Given the description of an element on the screen output the (x, y) to click on. 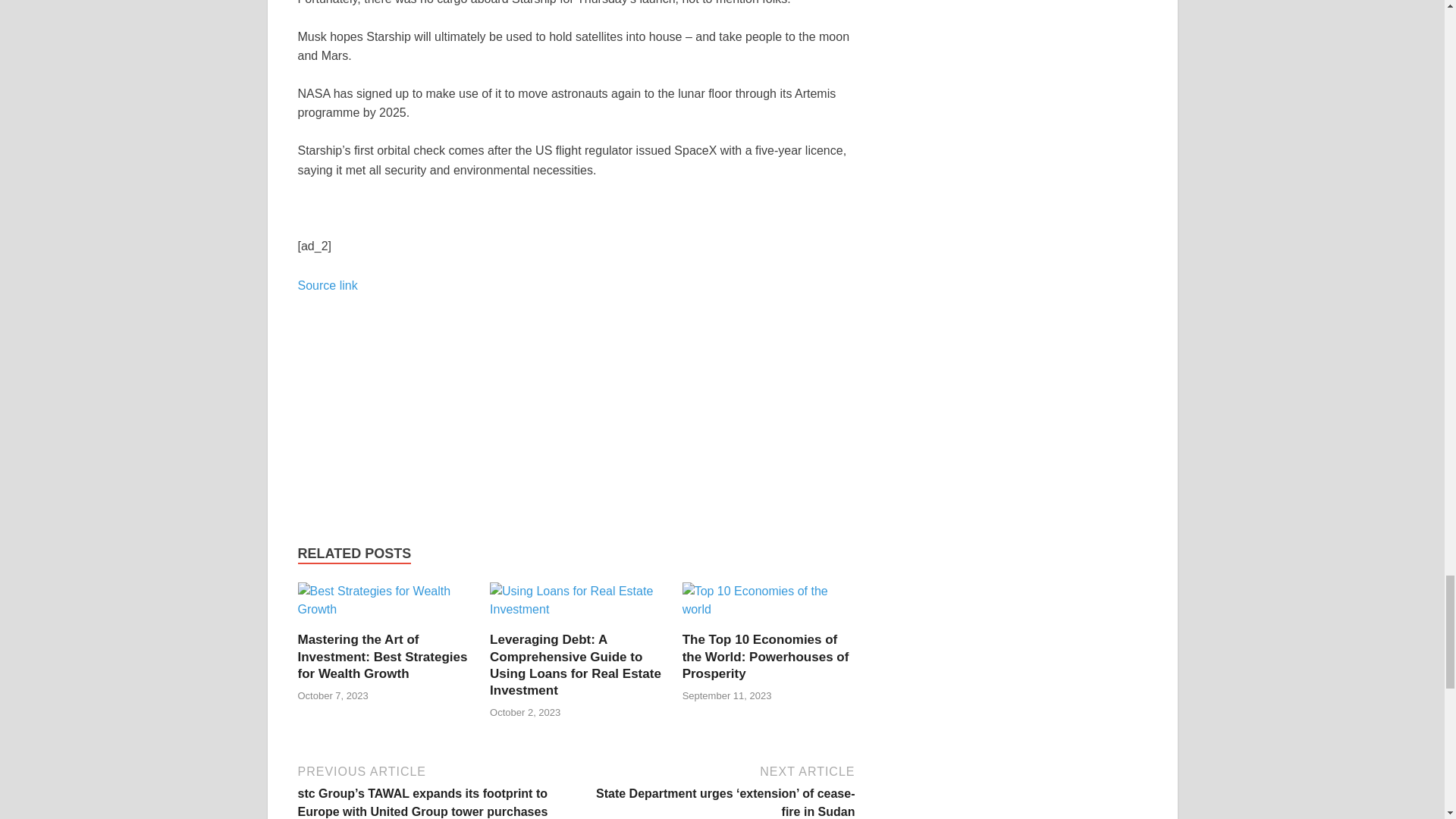
The Top 10 Economies of the World: Powerhouses of Prosperity (765, 656)
The Top 10 Economies of the World: Powerhouses of Prosperity (769, 605)
